Given the description of an element on the screen output the (x, y) to click on. 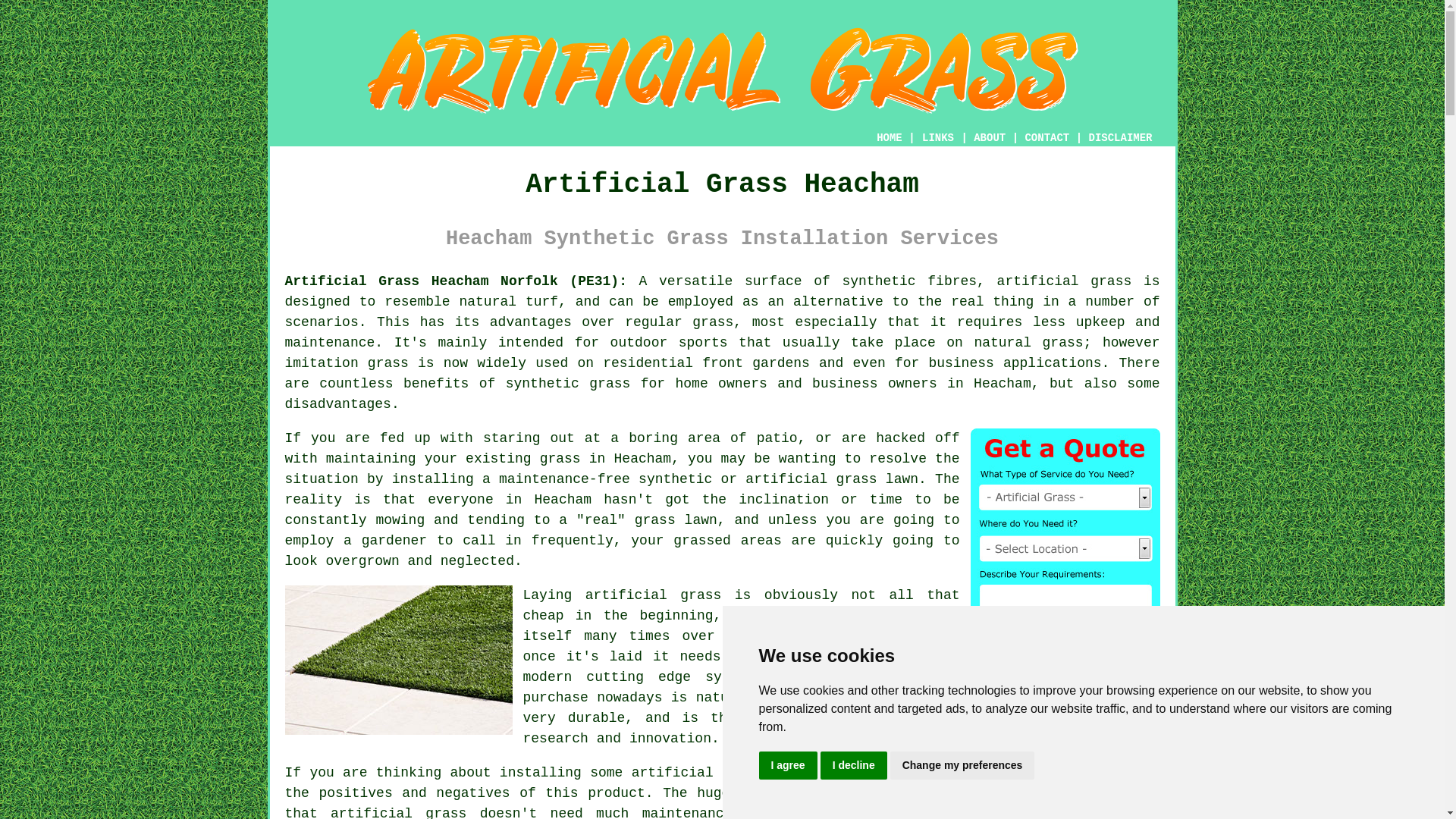
artificial grass (1064, 281)
LINKS (938, 137)
artificial grass (696, 772)
HOME (889, 137)
I decline (853, 765)
Change my preferences (962, 765)
Artificial Grass Installation Heacham (722, 70)
I agree (787, 765)
